Given the description of an element on the screen output the (x, y) to click on. 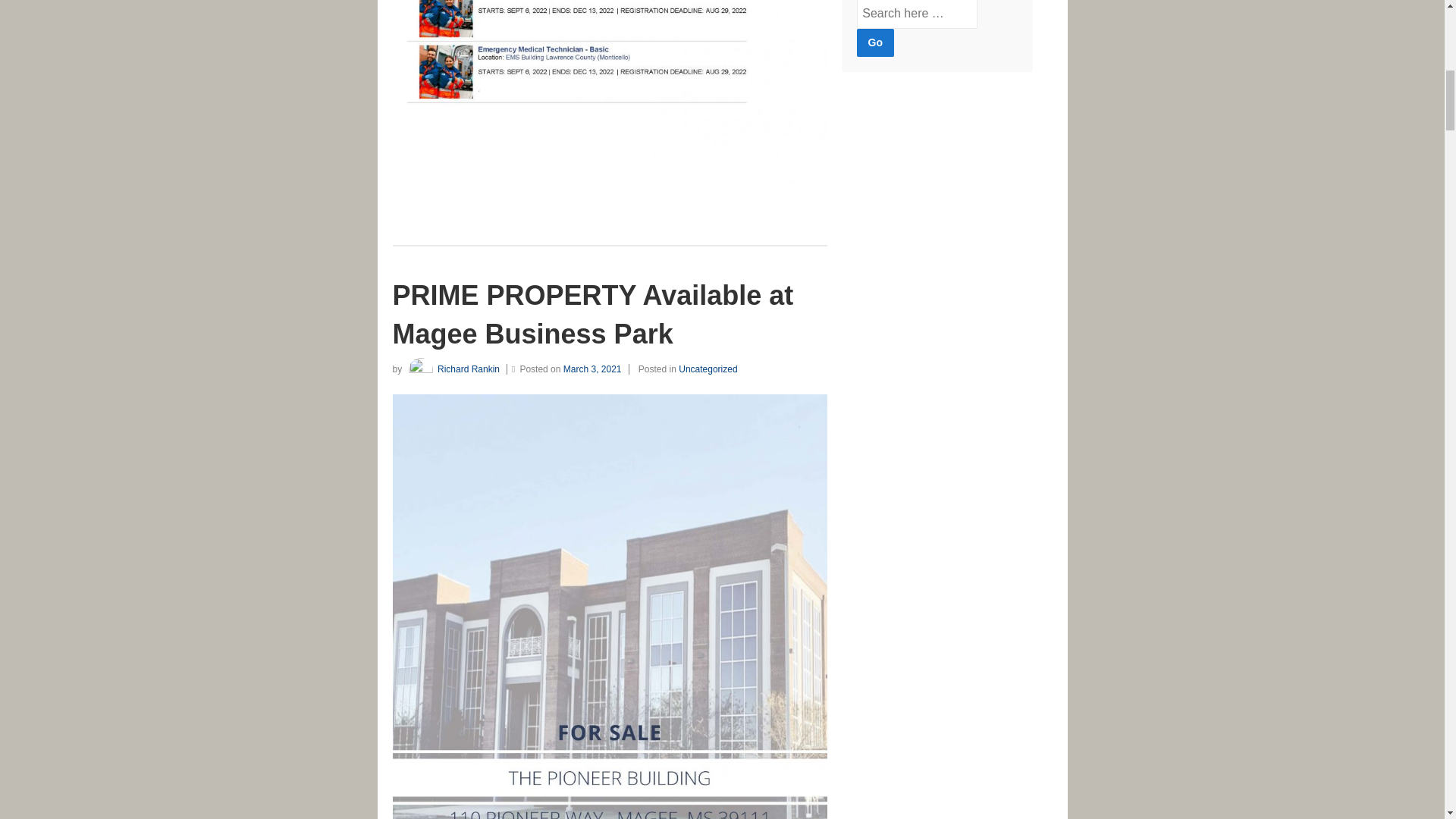
Go (875, 42)
PRIME PROPERTY Available at Magee Business Park (593, 314)
March 3, 2021 (595, 368)
Richard Rankin (452, 368)
Uncategorized (707, 368)
